Given the description of an element on the screen output the (x, y) to click on. 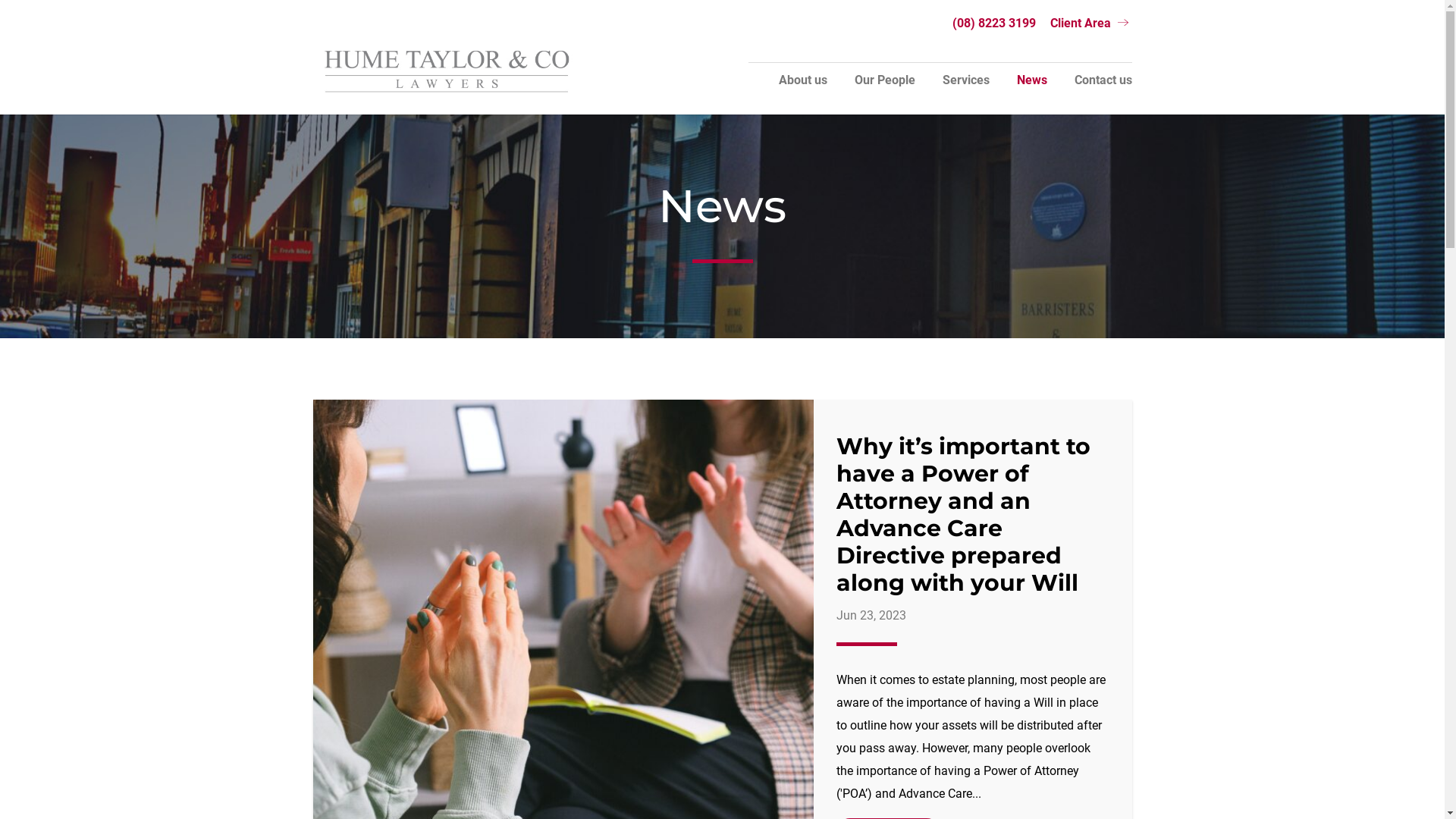
Contact us Element type: text (1102, 87)
News Element type: text (1031, 87)
(08) 8223 3199 Element type: text (993, 27)
Client Area Element type: text (1090, 26)
About us Element type: text (802, 87)
Services Element type: text (964, 87)
Our People Element type: text (883, 87)
